Given the description of an element on the screen output the (x, y) to click on. 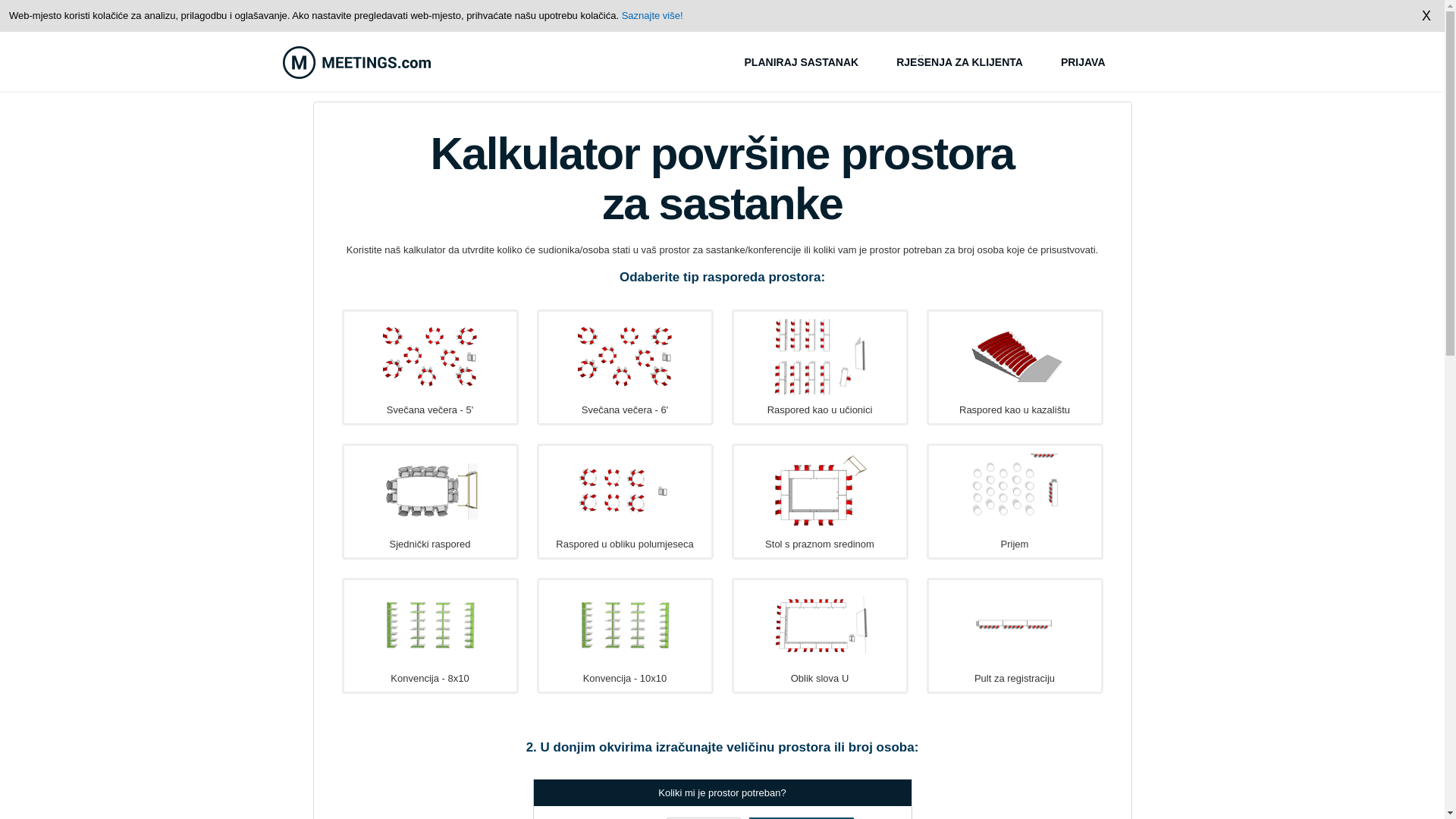
X (1428, 15)
PRIJAVA (1083, 61)
PLANIRAJ SASTANAK (801, 61)
